Given the description of an element on the screen output the (x, y) to click on. 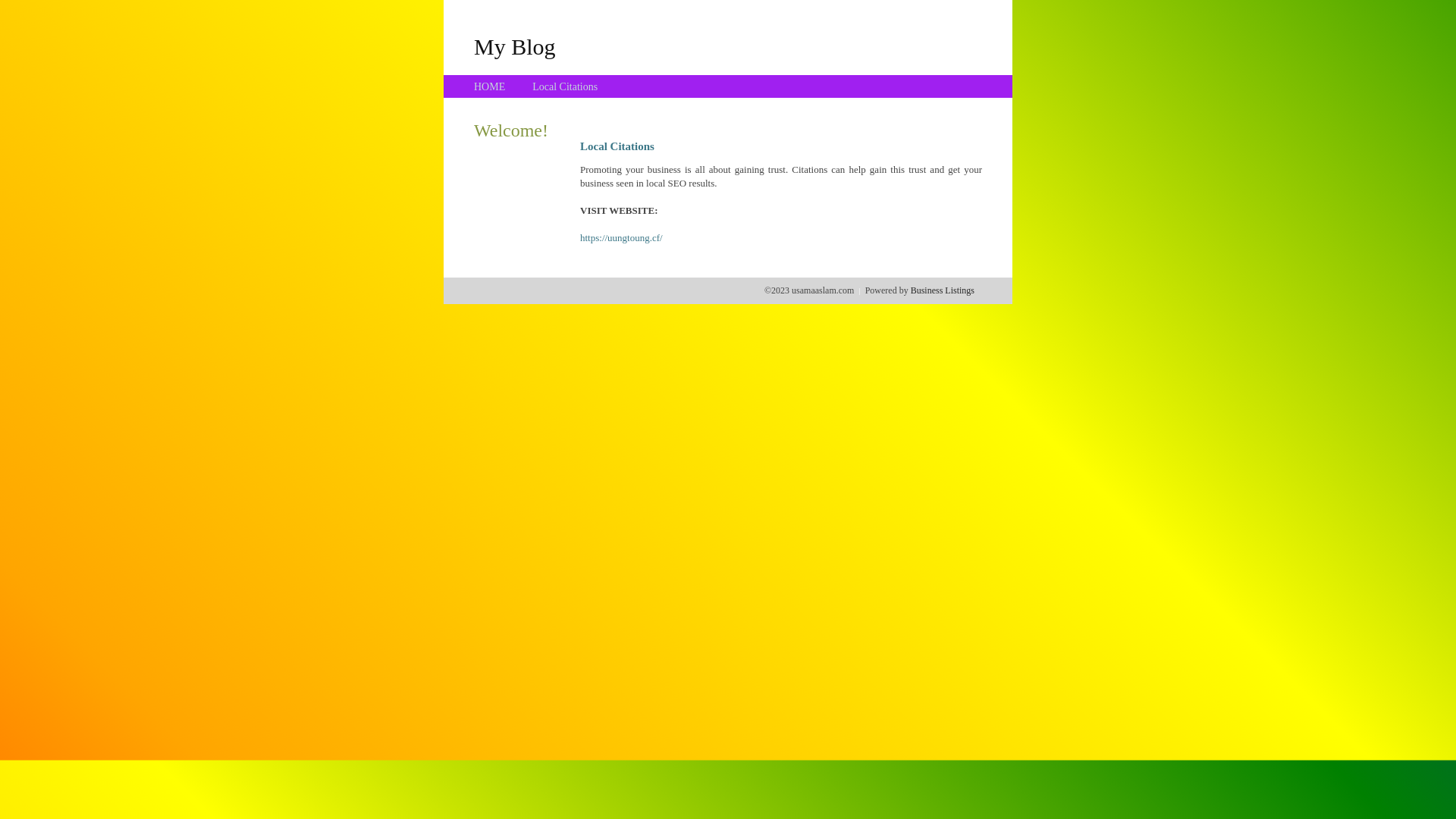
Business Listings Element type: text (942, 290)
HOME Element type: text (489, 86)
My Blog Element type: text (514, 46)
https://uungtoung.cf/ Element type: text (621, 237)
Local Citations Element type: text (564, 86)
